Given the description of an element on the screen output the (x, y) to click on. 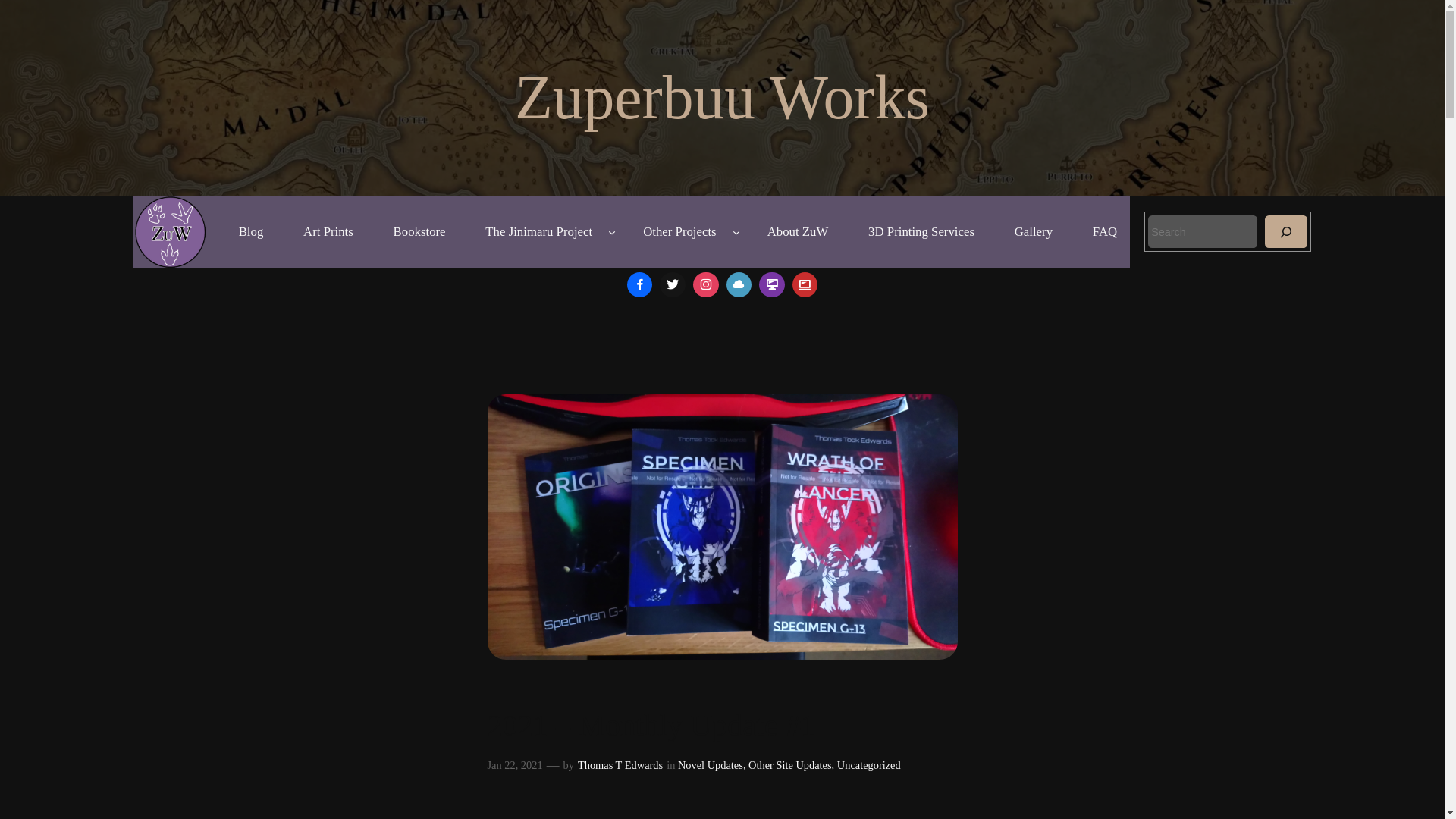
Bluesky (738, 285)
Bookstore (419, 231)
YouTube (805, 285)
The Jinimaru Project (539, 231)
Instagram (705, 285)
Other Projects (679, 231)
3D Printing Services (921, 231)
Twitter (672, 285)
Blog (250, 231)
Gallery (1033, 231)
Facebook (639, 285)
Art Prints (327, 231)
About ZuW (797, 231)
Twitch (772, 285)
FAQ (1104, 231)
